Given the description of an element on the screen output the (x, y) to click on. 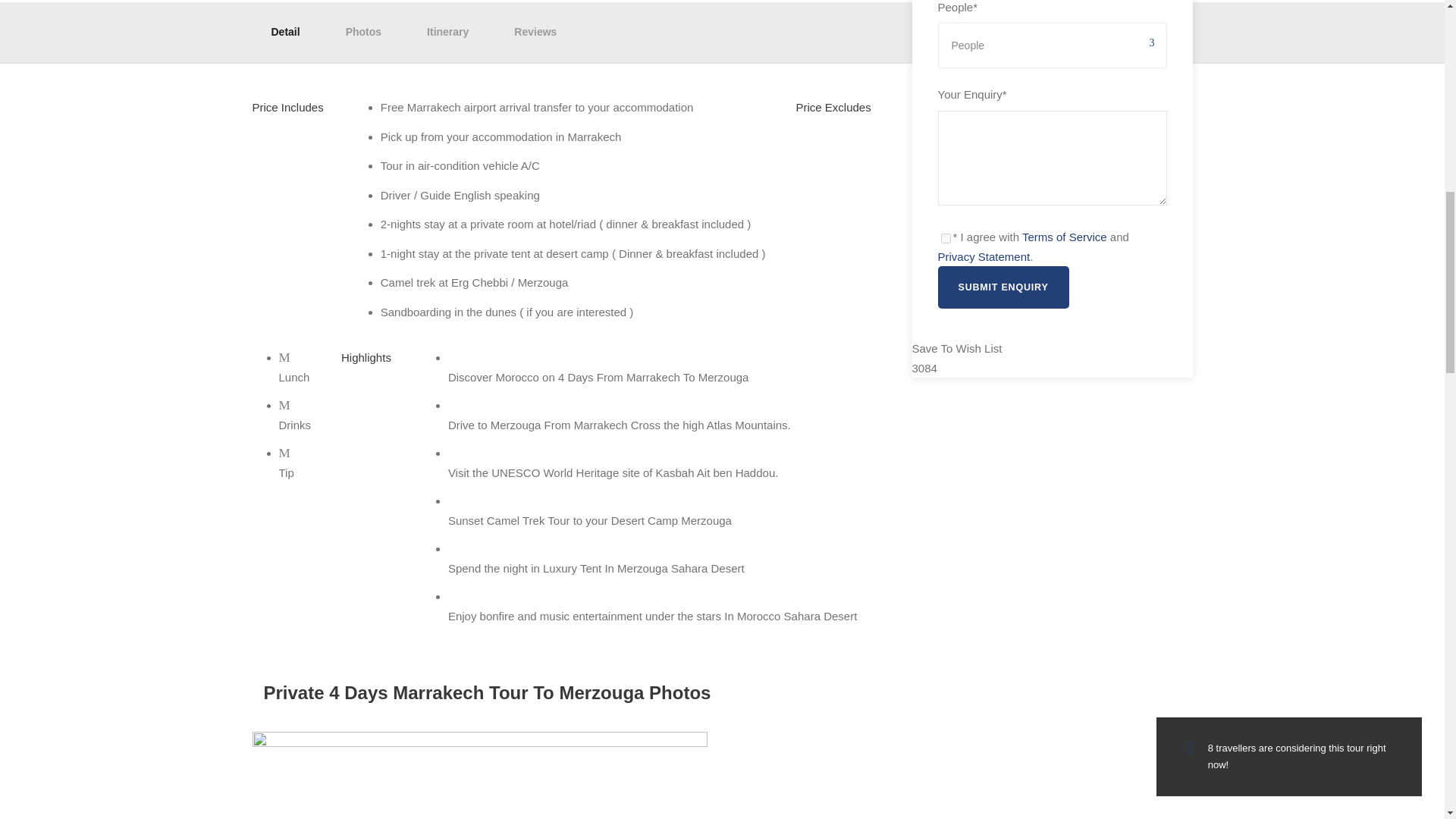
on (945, 238)
Terms of Service (1064, 236)
Submit Enquiry (1002, 287)
Priavte-3-Days-Marrakech-To-Fes-Desert-Tour (478, 775)
Privacy Statement (983, 256)
Submit Enquiry (1002, 287)
Detail (284, 32)
